Given the description of an element on the screen output the (x, y) to click on. 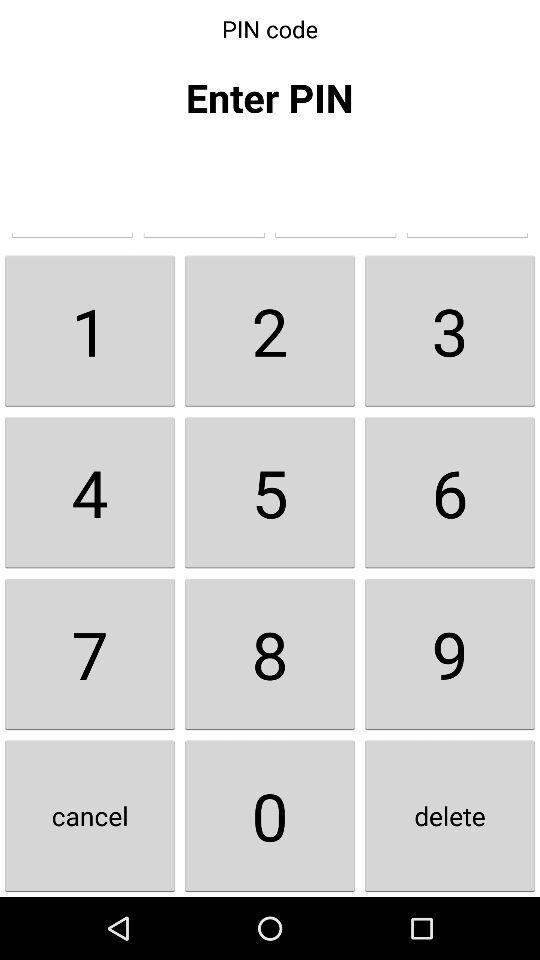
launch 5 icon (270, 492)
